Given the description of an element on the screen output the (x, y) to click on. 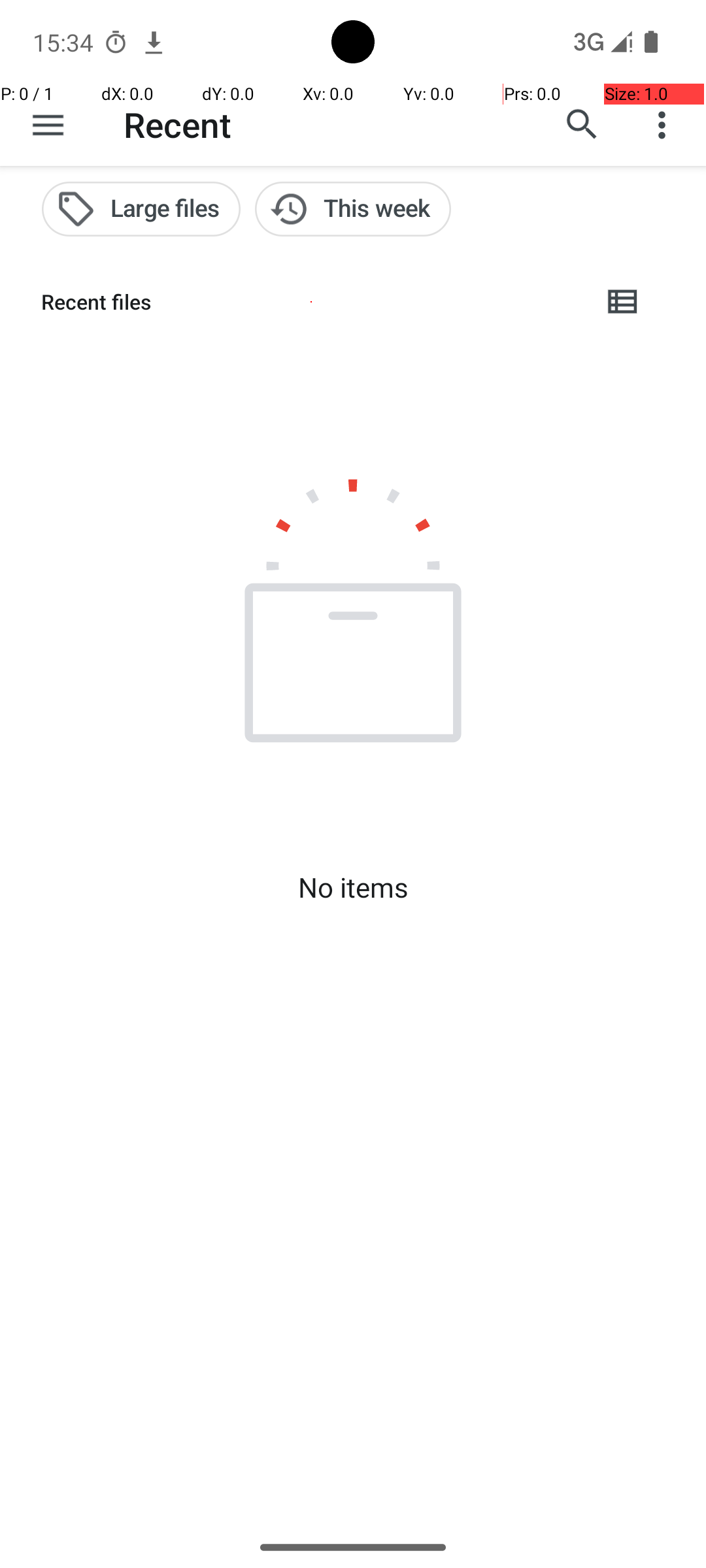
Chrome notification: www.espn.com Element type: android.widget.ImageView (153, 41)
